Given the description of an element on the screen output the (x, y) to click on. 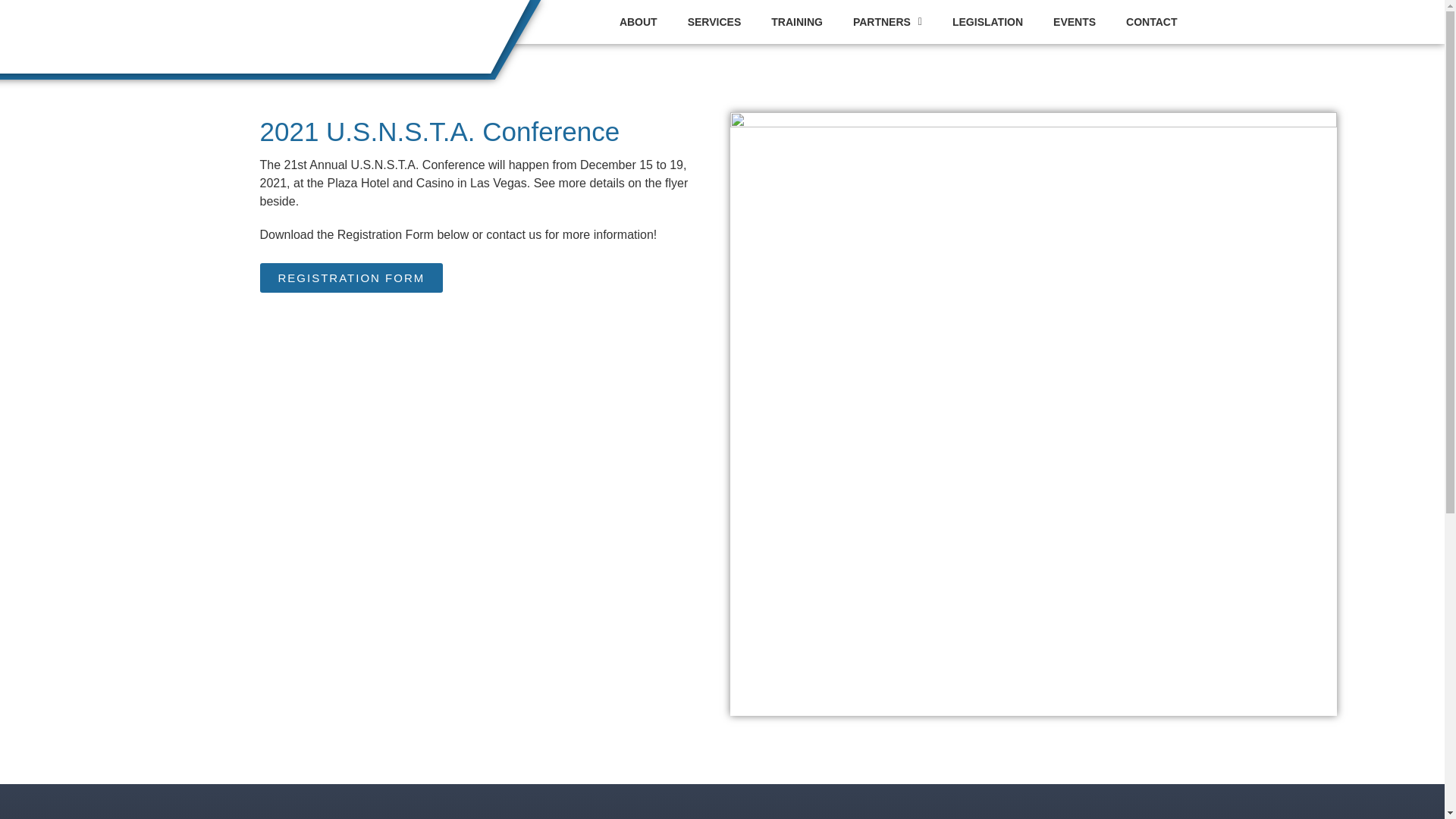
SERVICES (714, 21)
LEGISLATION (987, 21)
CONTACT (1151, 21)
TRAINING (796, 21)
REGISTRATION FORM (350, 276)
PARTNERS (887, 21)
EVENTS (1074, 21)
ABOUT (638, 21)
